Given the description of an element on the screen output the (x, y) to click on. 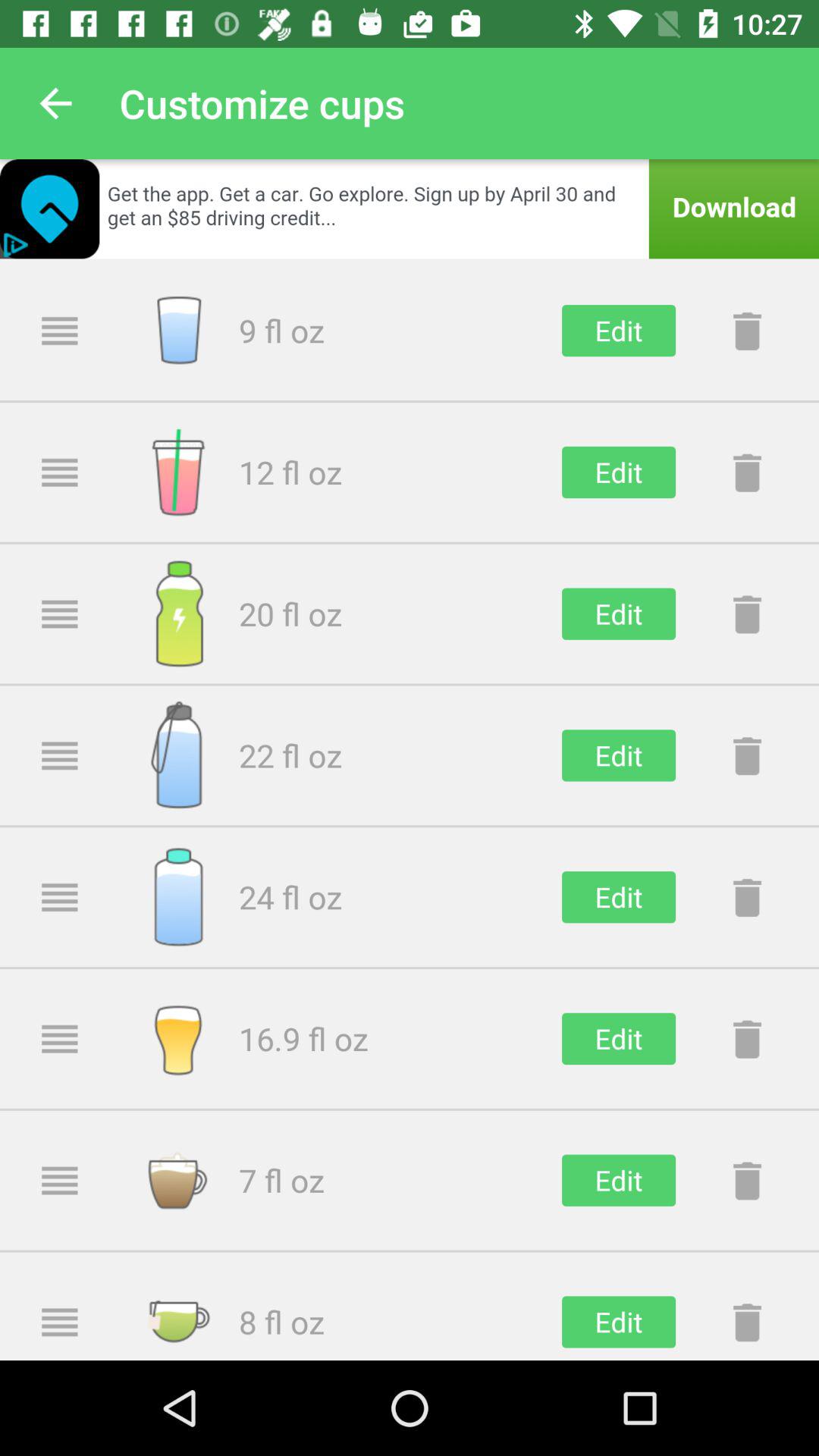
move to trash (747, 1321)
